Given the description of an element on the screen output the (x, y) to click on. 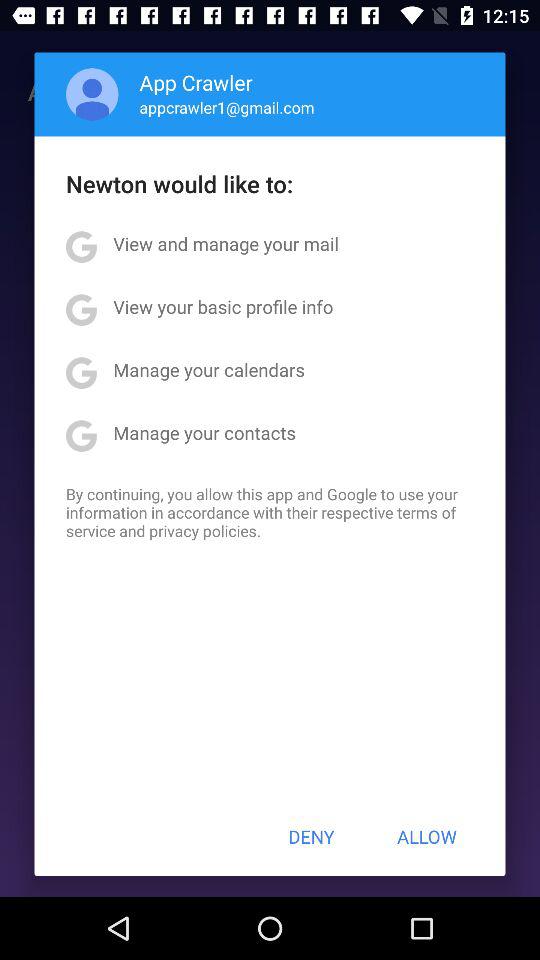
choose icon next to allow (311, 836)
